Given the description of an element on the screen output the (x, y) to click on. 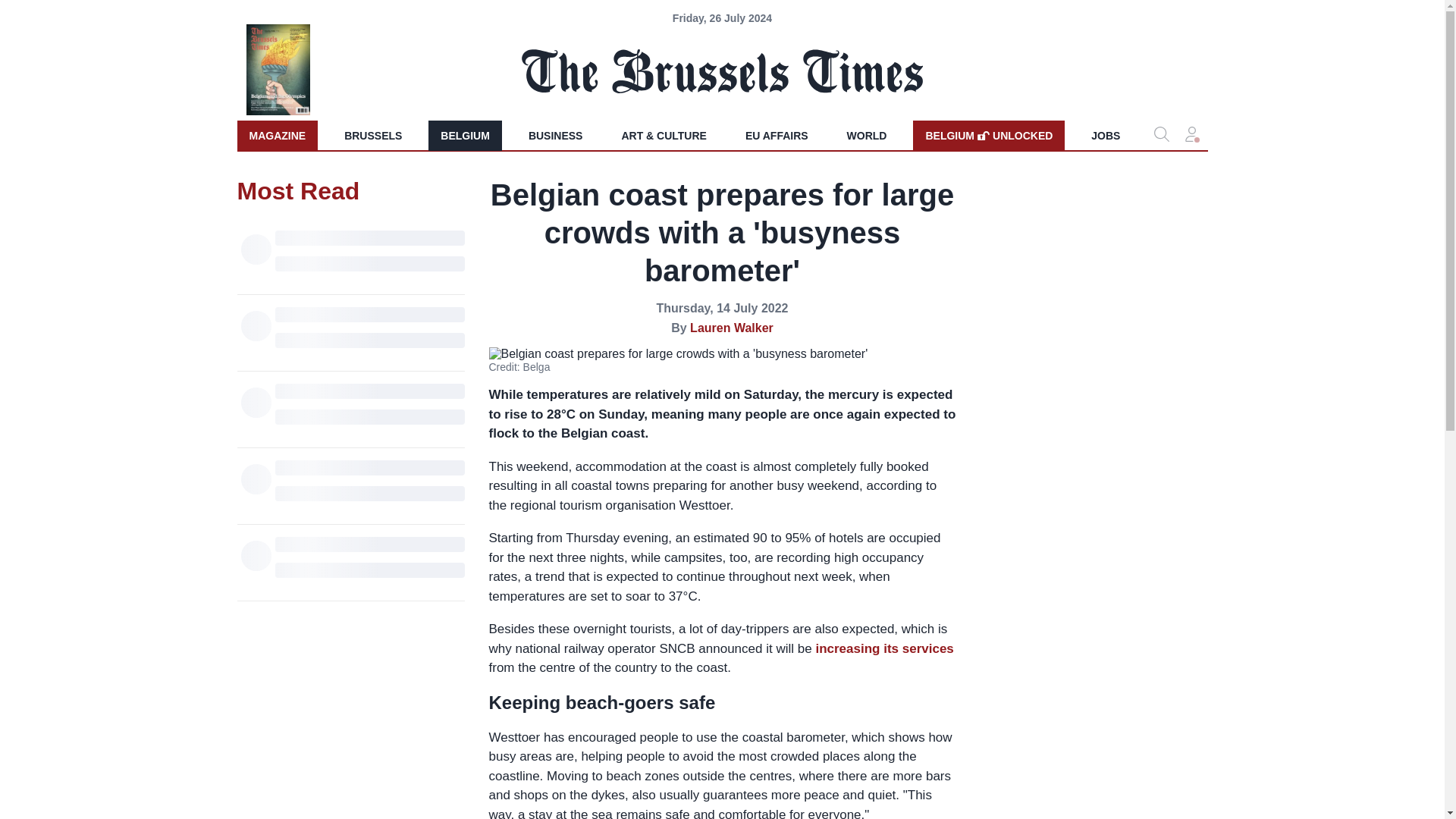
EU AFFAIRS (777, 135)
BRUSSELS (372, 135)
increasing its services (884, 648)
WORLD (866, 135)
JOBS (1105, 135)
BUSINESS (555, 135)
BELGIUM (465, 135)
Lauren Walker (731, 327)
MAGAZINE (988, 135)
